Given the description of an element on the screen output the (x, y) to click on. 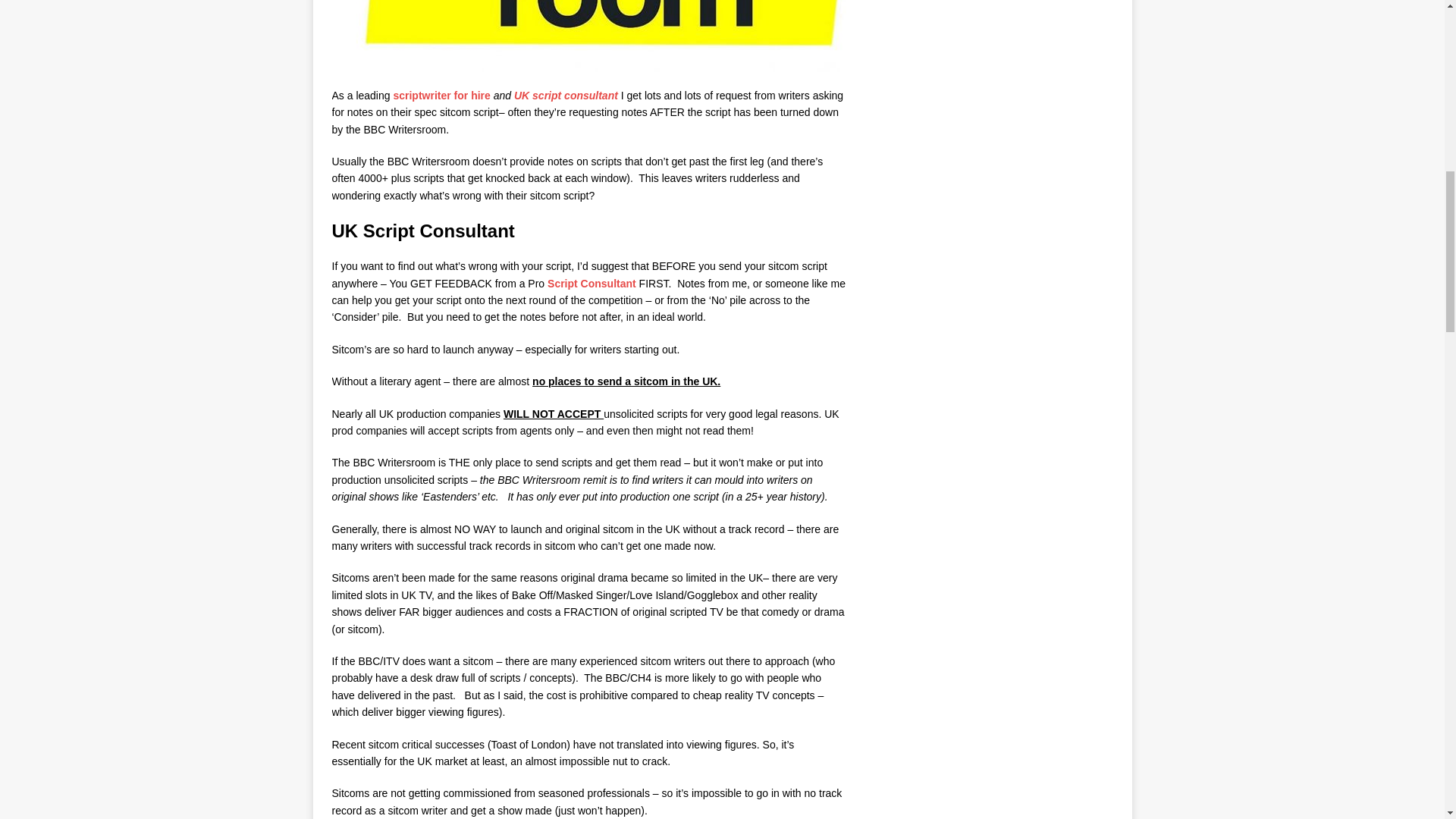
bbc writersroom (588, 36)
